Given the description of an element on the screen output the (x, y) to click on. 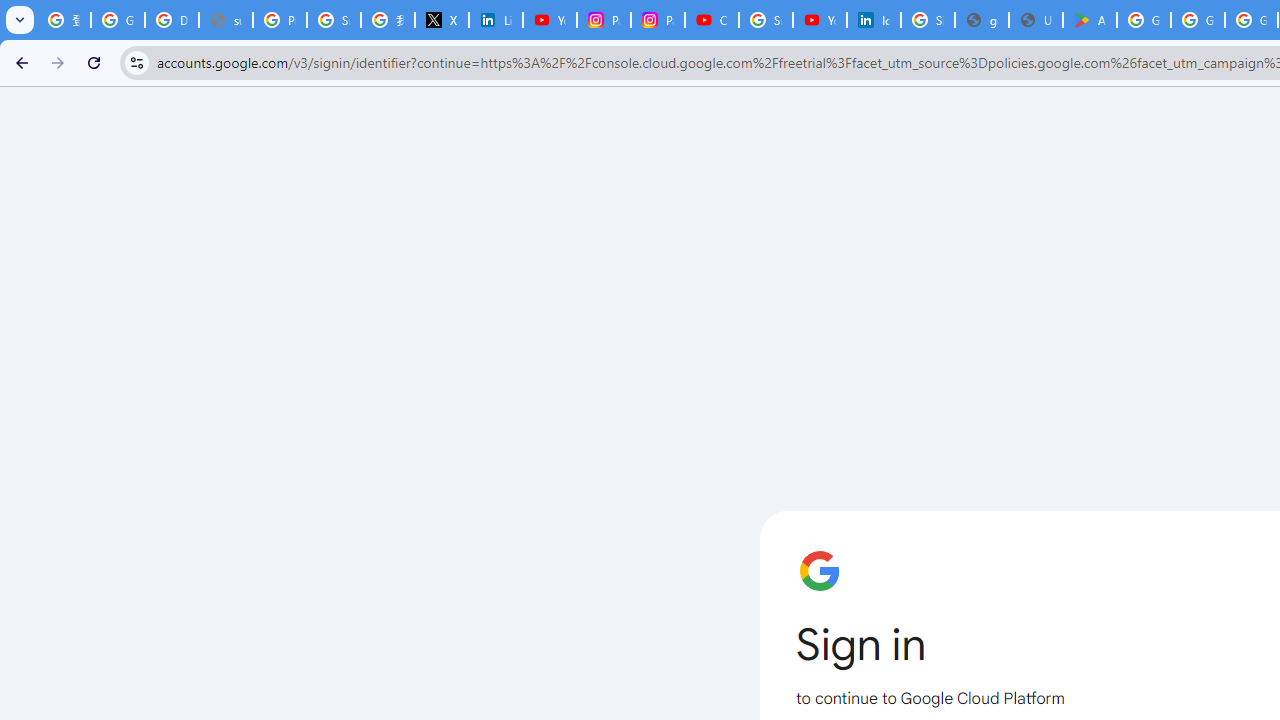
Android Apps on Google Play (1089, 20)
Google Workspace - Specific Terms (1197, 20)
LinkedIn Privacy Policy (495, 20)
